Given the description of an element on the screen output the (x, y) to click on. 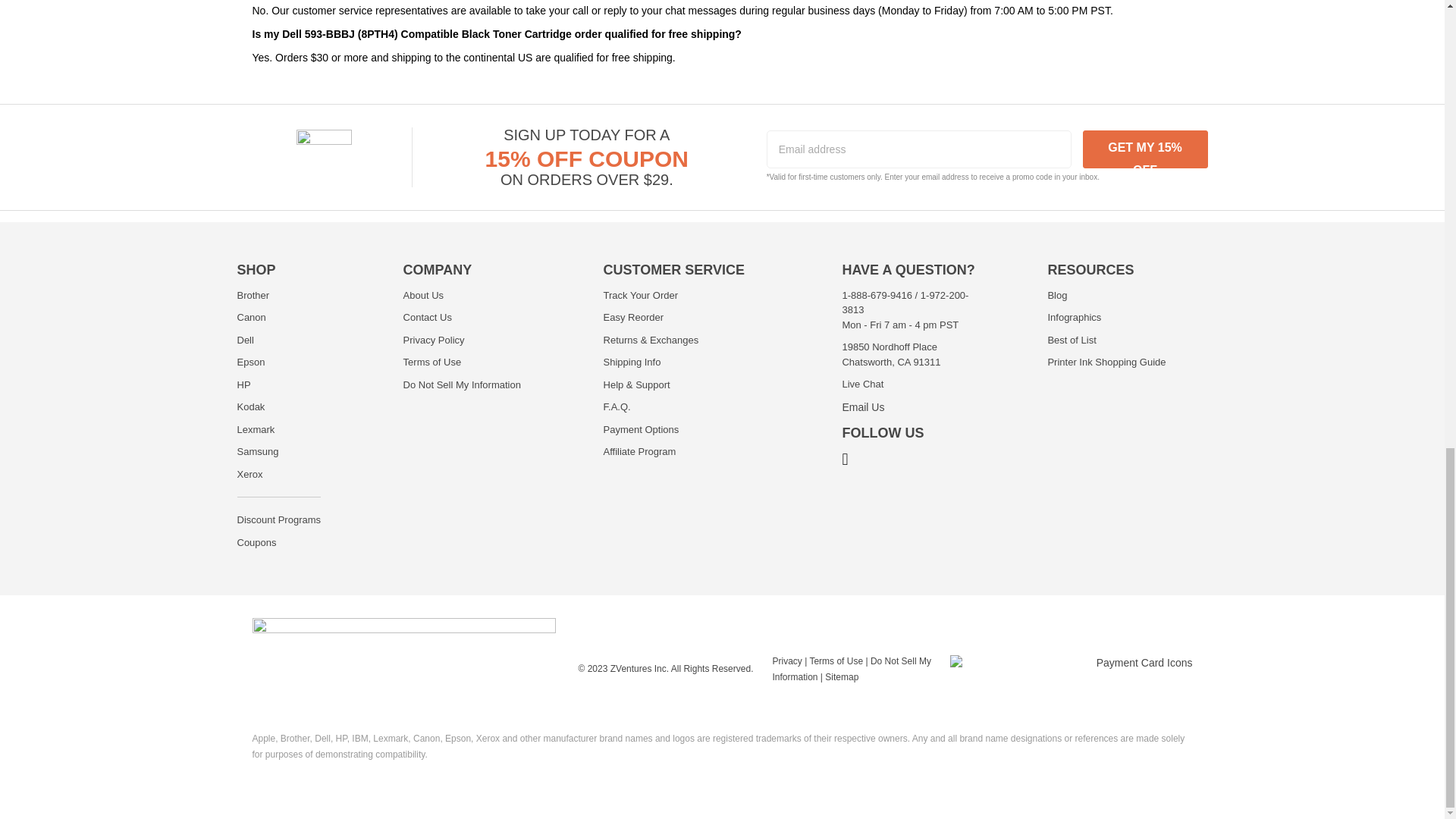
About Us (423, 295)
